Given the description of an element on the screen output the (x, y) to click on. 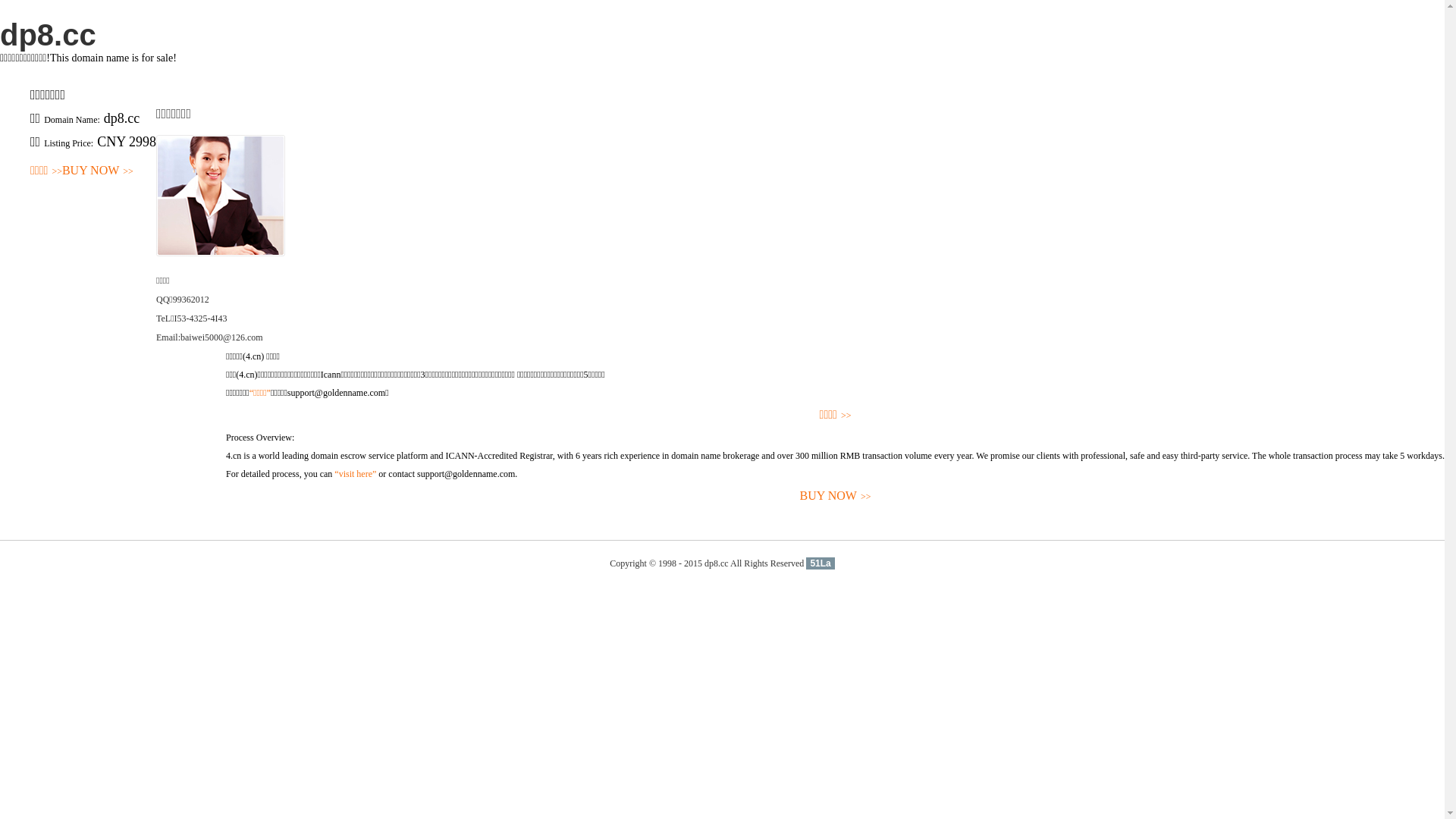
BUY NOW>> Element type: text (834, 496)
BUY NOW>> Element type: text (97, 170)
51La Element type: text (820, 563)
